Given the description of an element on the screen output the (x, y) to click on. 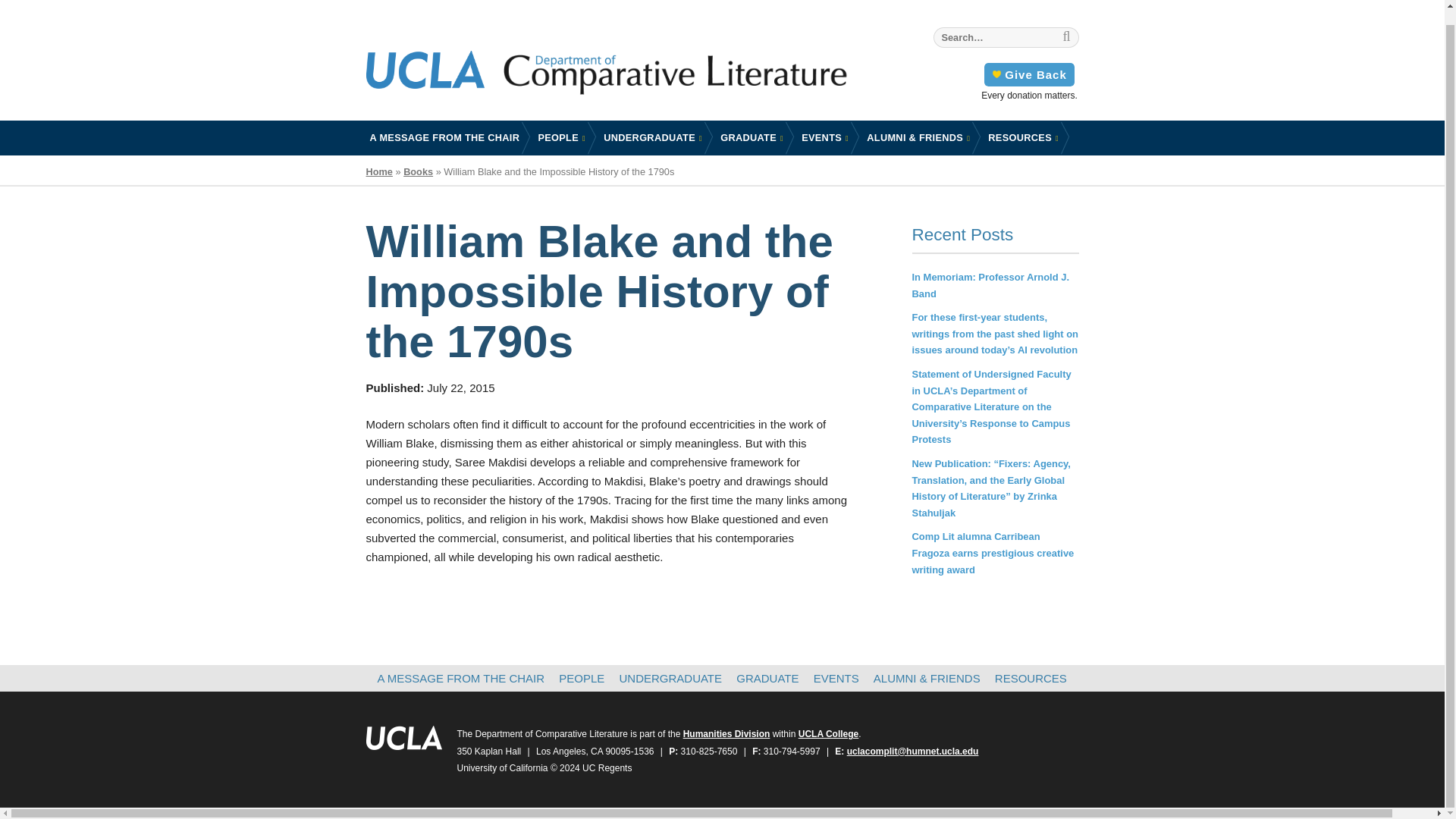
PEOPLE (561, 137)
UNDERGRADUATE (652, 137)
GRADUATE (751, 137)
EVENTS (825, 137)
Give Back (1029, 74)
Search for: (1005, 37)
A MESSAGE FROM THE CHAIR (444, 137)
